Given the description of an element on the screen output the (x, y) to click on. 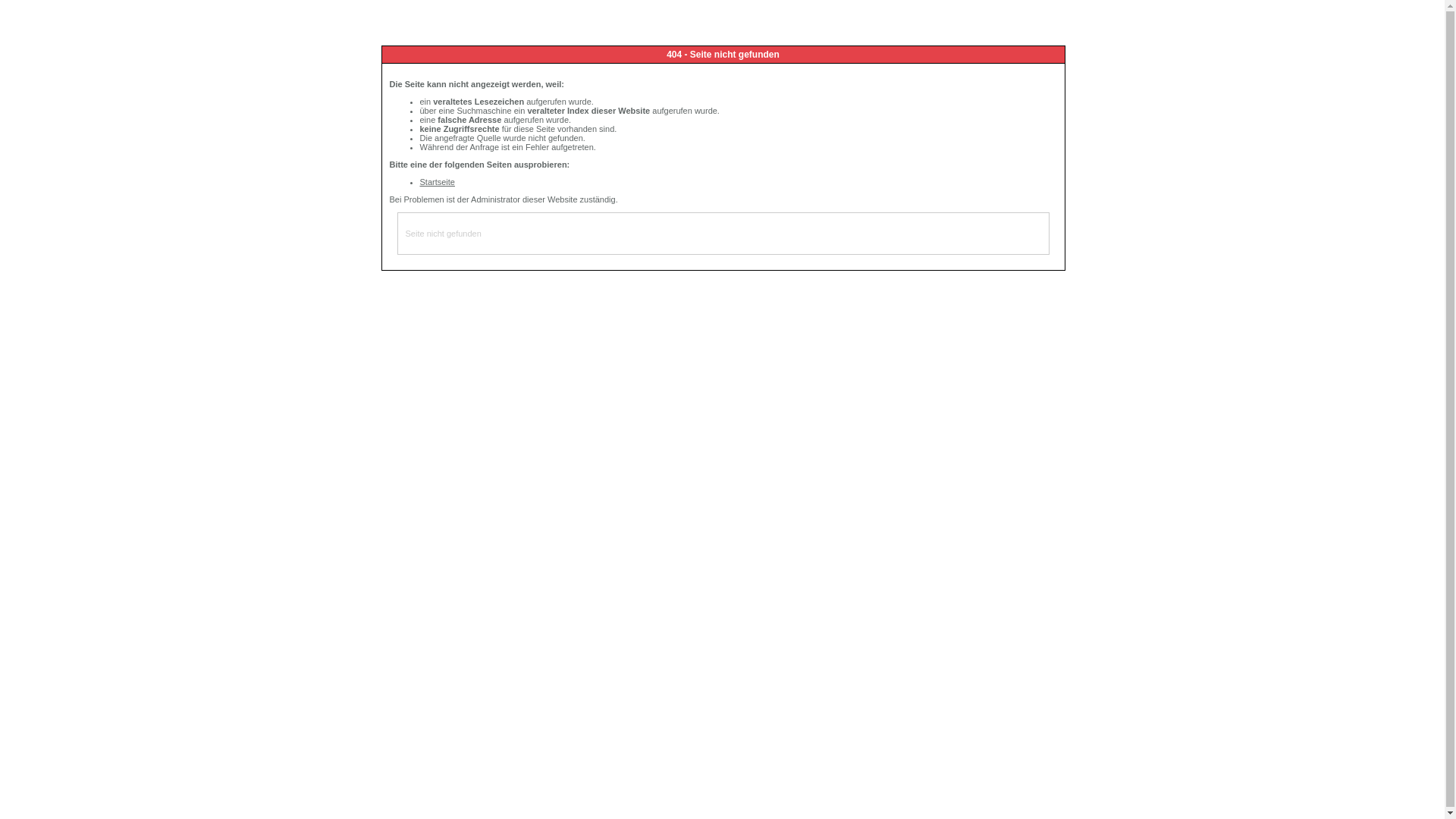
Startseite Element type: text (437, 181)
